Given the description of an element on the screen output the (x, y) to click on. 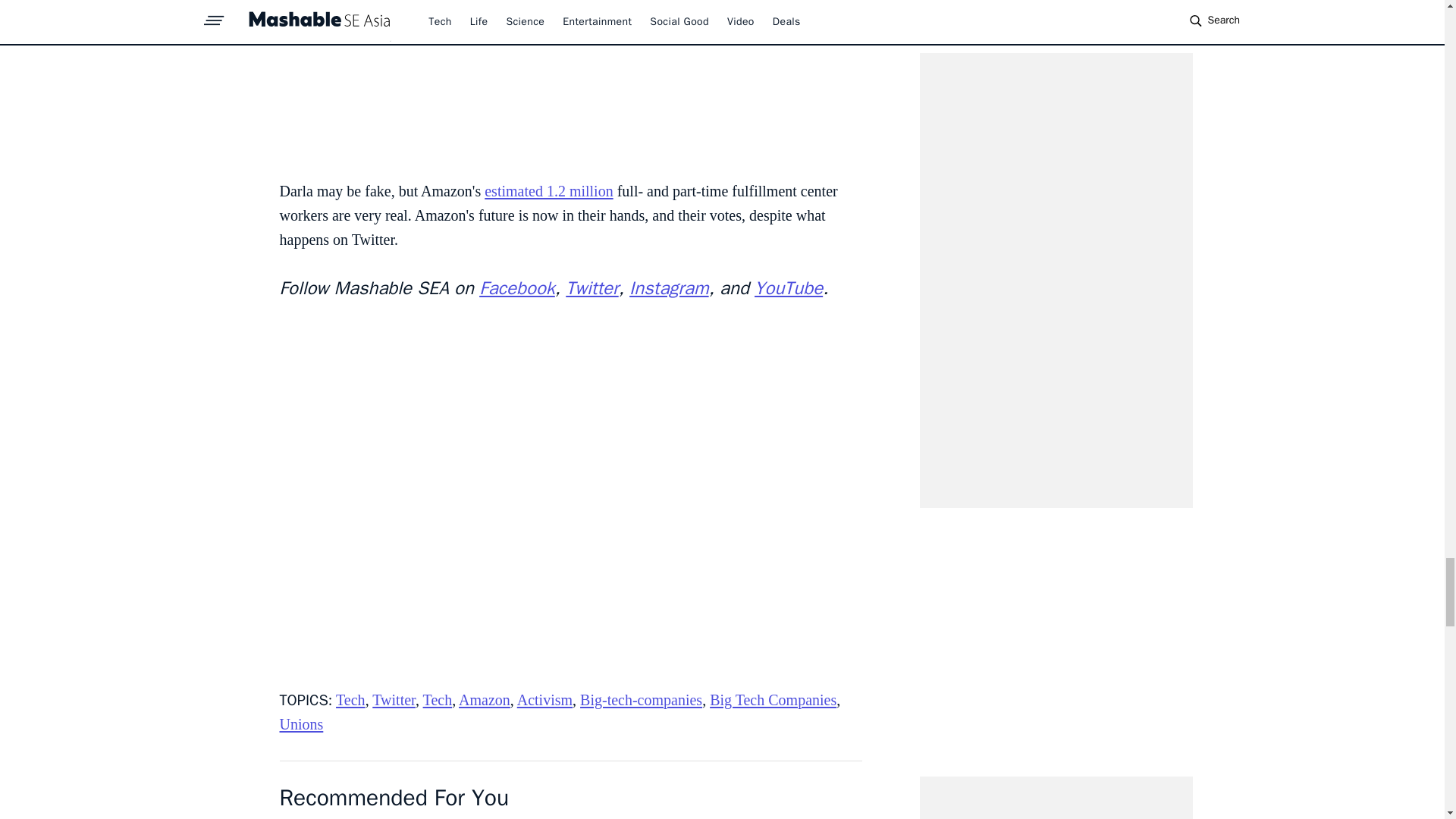
Twitter Tweet (570, 81)
